Given the description of an element on the screen output the (x, y) to click on. 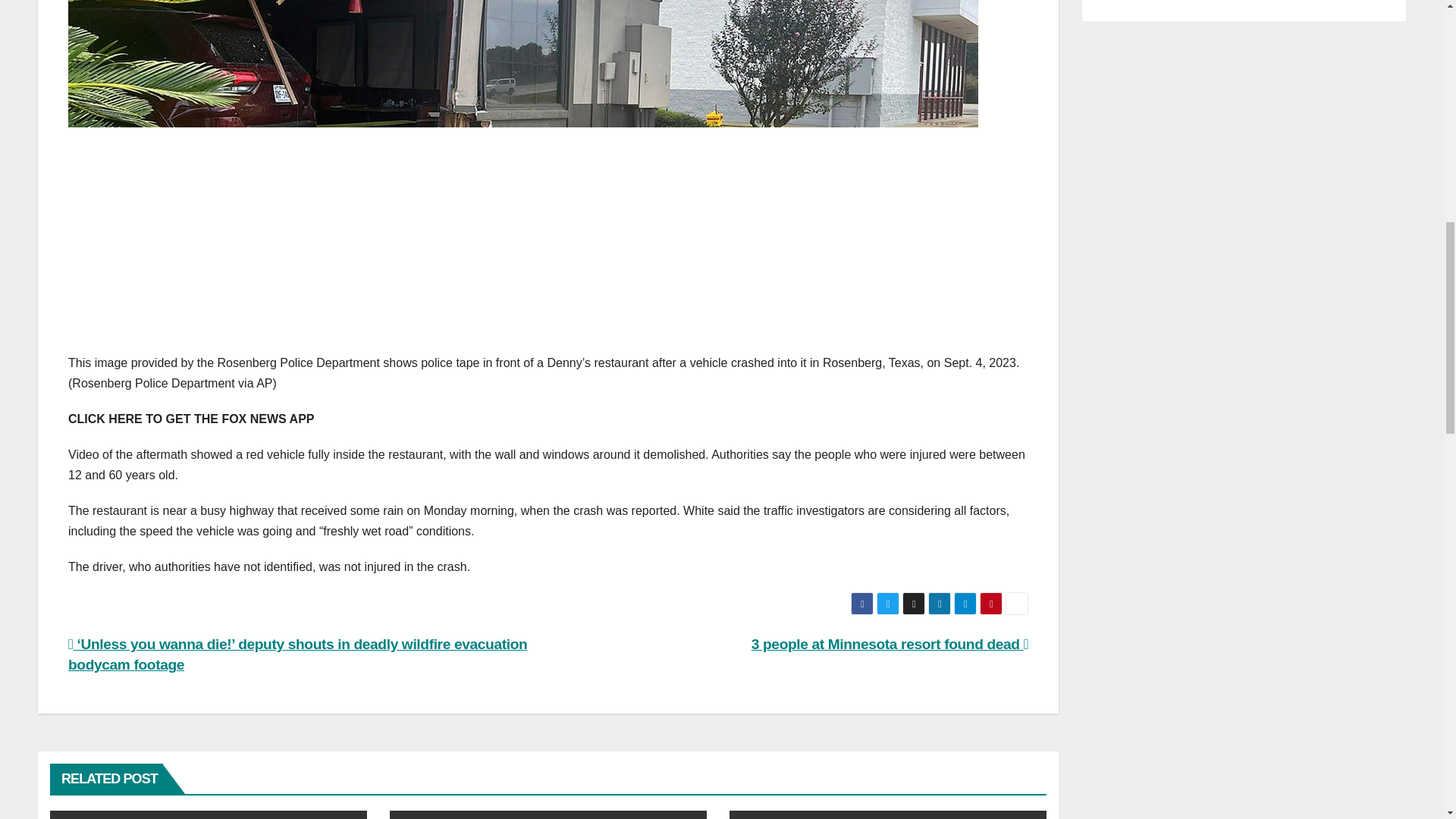
3 people at Minnesota resort found dead (889, 643)
